Given the description of an element on the screen output the (x, y) to click on. 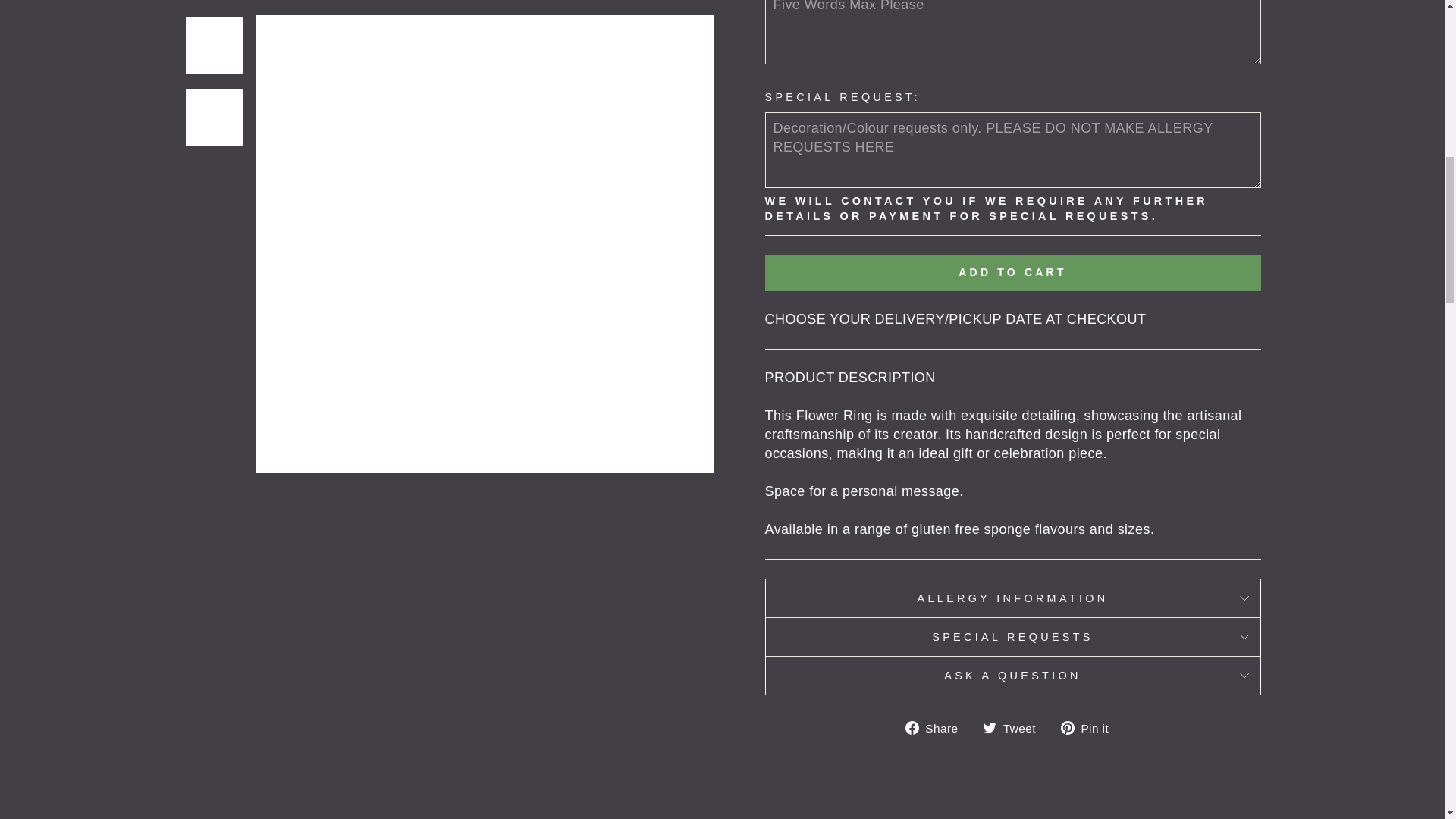
Share on Facebook (937, 727)
Pin on Pinterest (1090, 727)
Tweet on Twitter (1014, 727)
